Given the description of an element on the screen output the (x, y) to click on. 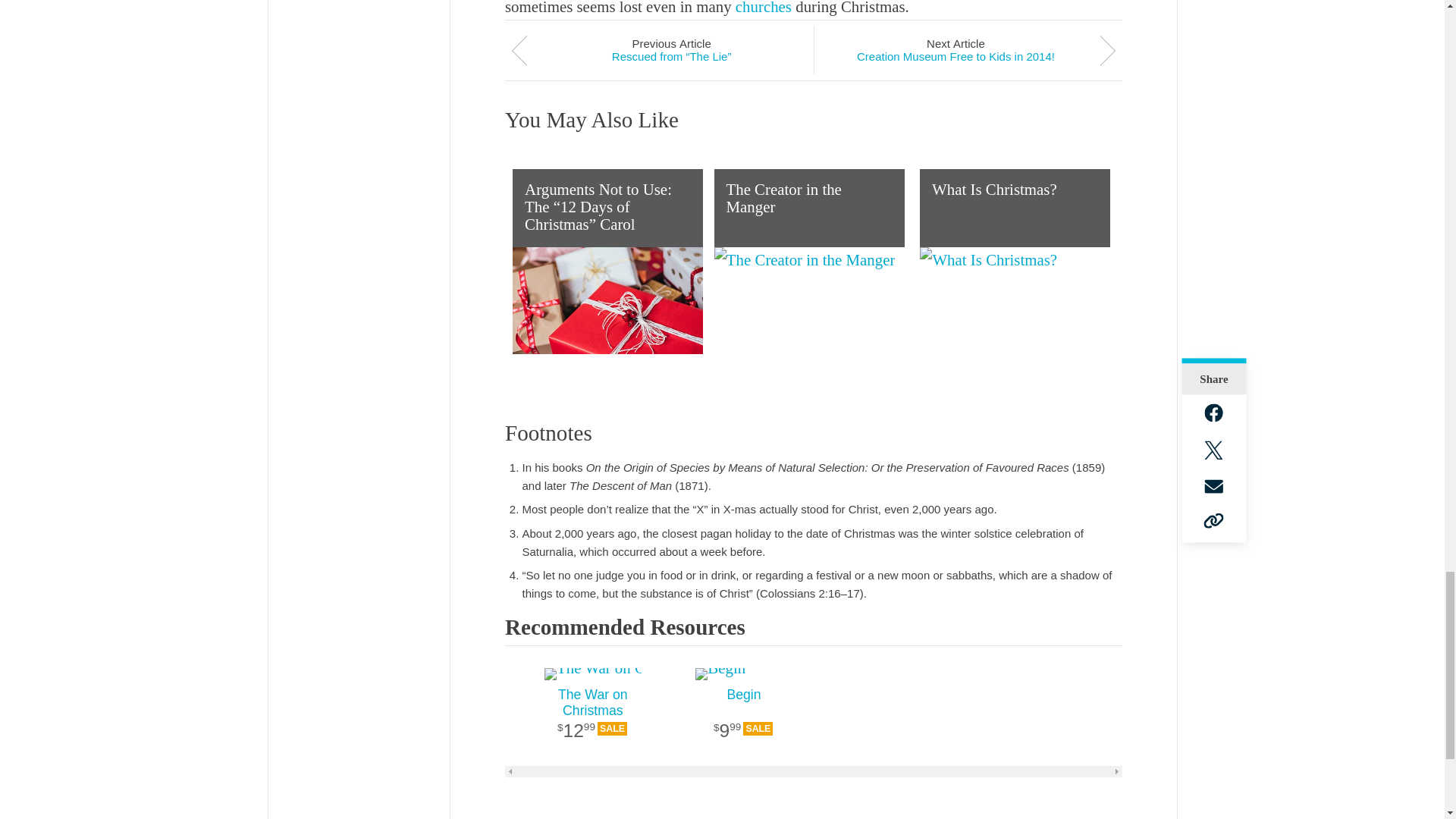
The War on Christmas (592, 674)
Begin (743, 722)
The War on Christmas (592, 722)
Begin (742, 674)
